Given the description of an element on the screen output the (x, y) to click on. 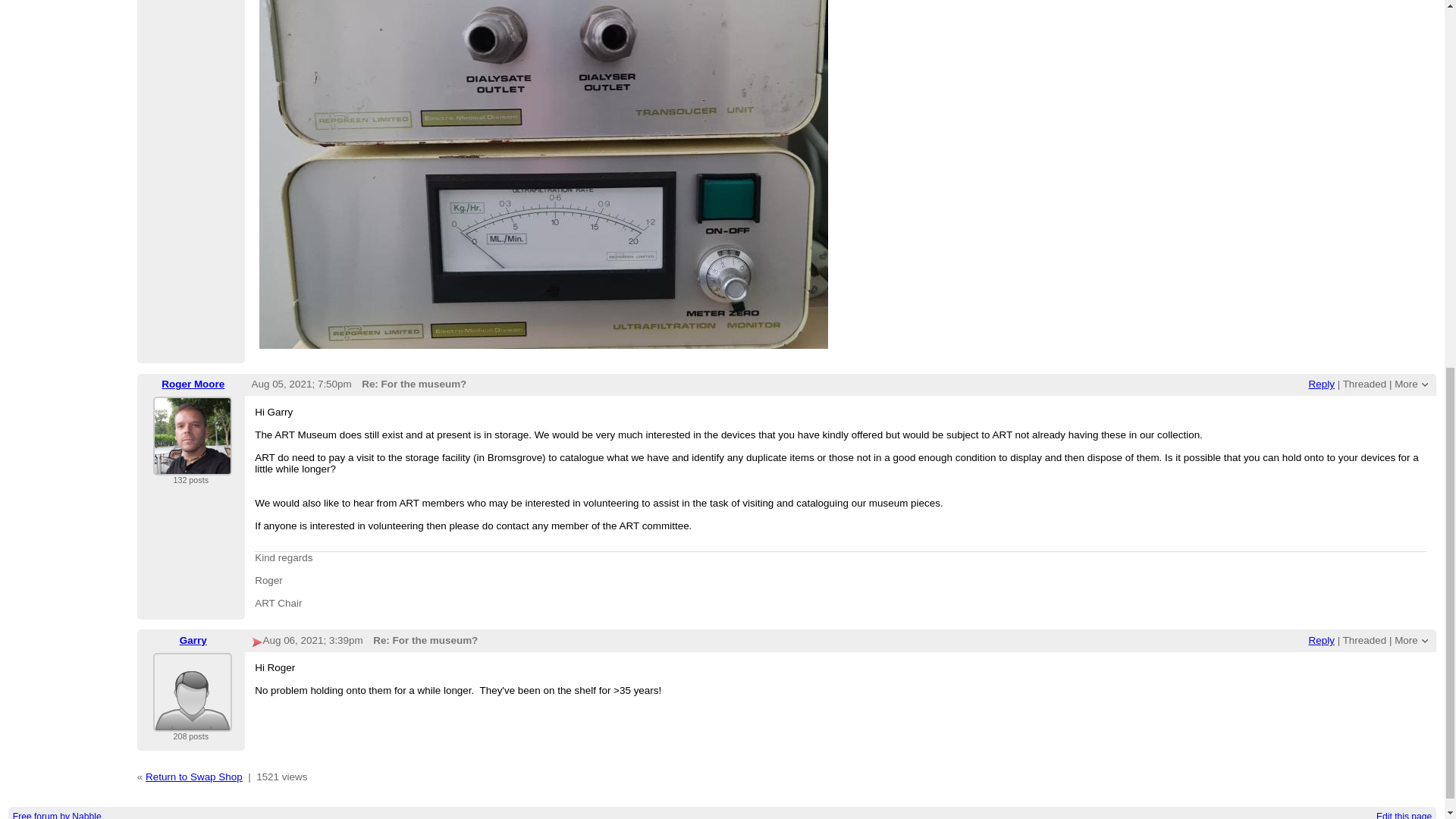
Roger Moore (192, 383)
Click for more options (1406, 640)
Click for more options (1406, 383)
Garry (191, 692)
View profile of Roger Moore (191, 465)
Reply (1321, 383)
Threaded (1364, 383)
Roger Moore (191, 435)
View profile of Garry (191, 722)
Selected post (257, 642)
More (1406, 383)
